Given the description of an element on the screen output the (x, y) to click on. 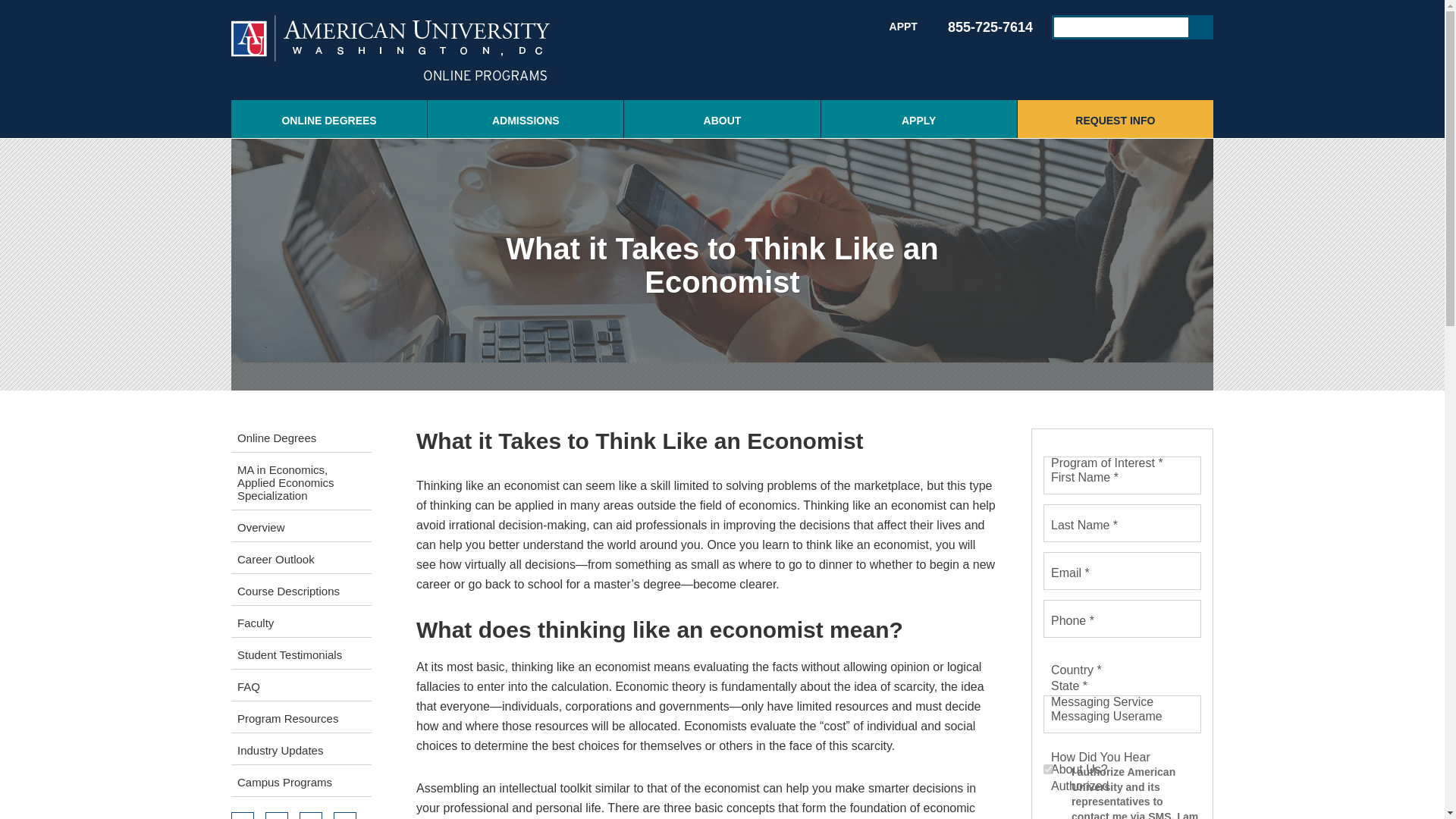
Request More Information From American University Online (1114, 118)
855-725-7614 (980, 27)
Search (1201, 27)
Search (1201, 27)
Skip to main content (691, 1)
ADMISSIONS (525, 118)
The Economics Faculty at American University (301, 622)
ONLINE DEGREES (328, 118)
1 (1047, 768)
Economics Courses from American University (301, 590)
Enter the terms you wish to search for. (1121, 27)
Economics Career Outlook from American University (301, 558)
